Given the description of an element on the screen output the (x, y) to click on. 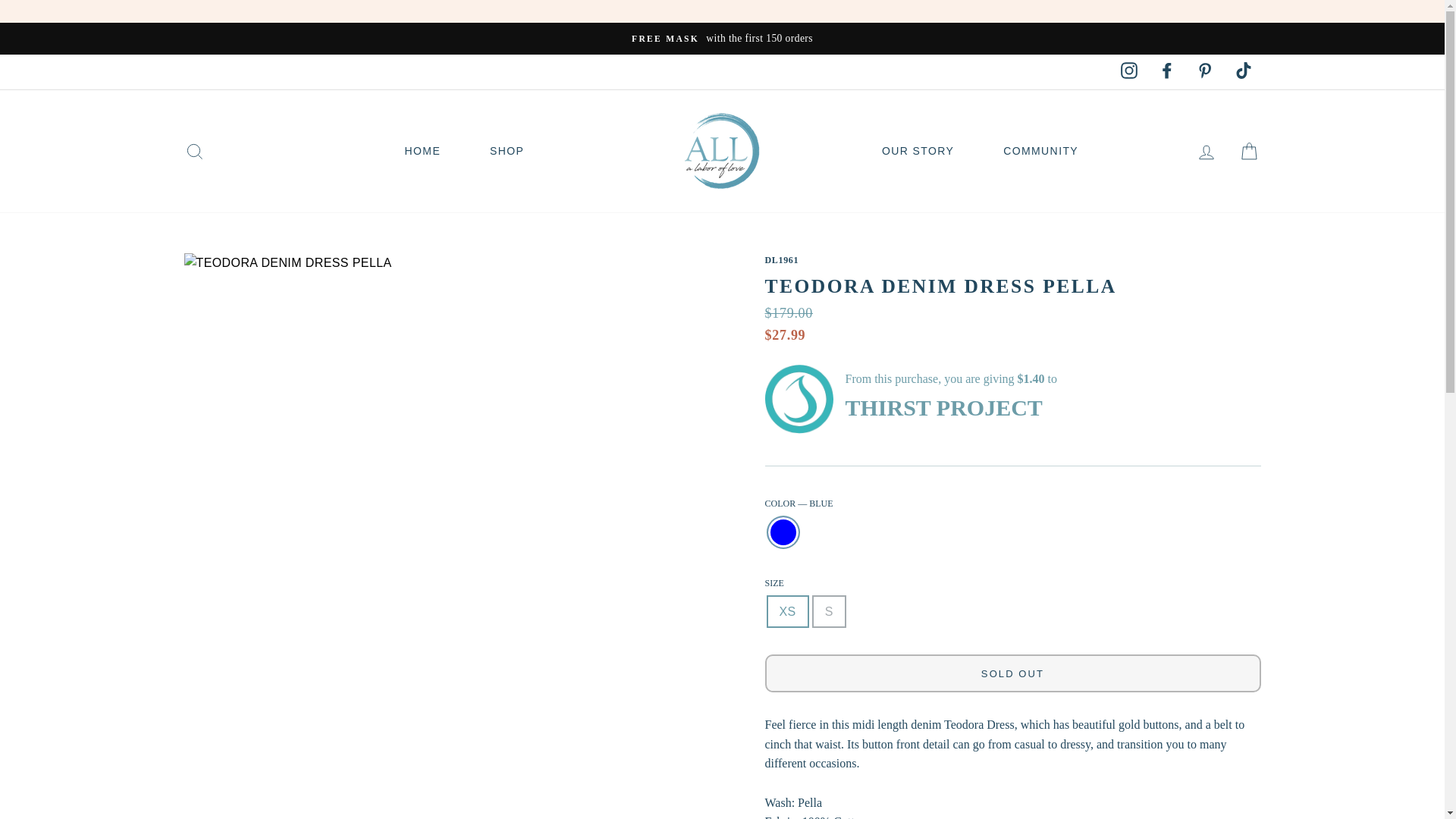
A Labor of Love on TikTok (1242, 71)
A Labor of Love on Instagram (1129, 71)
A Labor of Love on Pinterest (1205, 71)
A Labor of Love on Facebook (1167, 71)
DL1961 (780, 259)
